Given the description of an element on the screen output the (x, y) to click on. 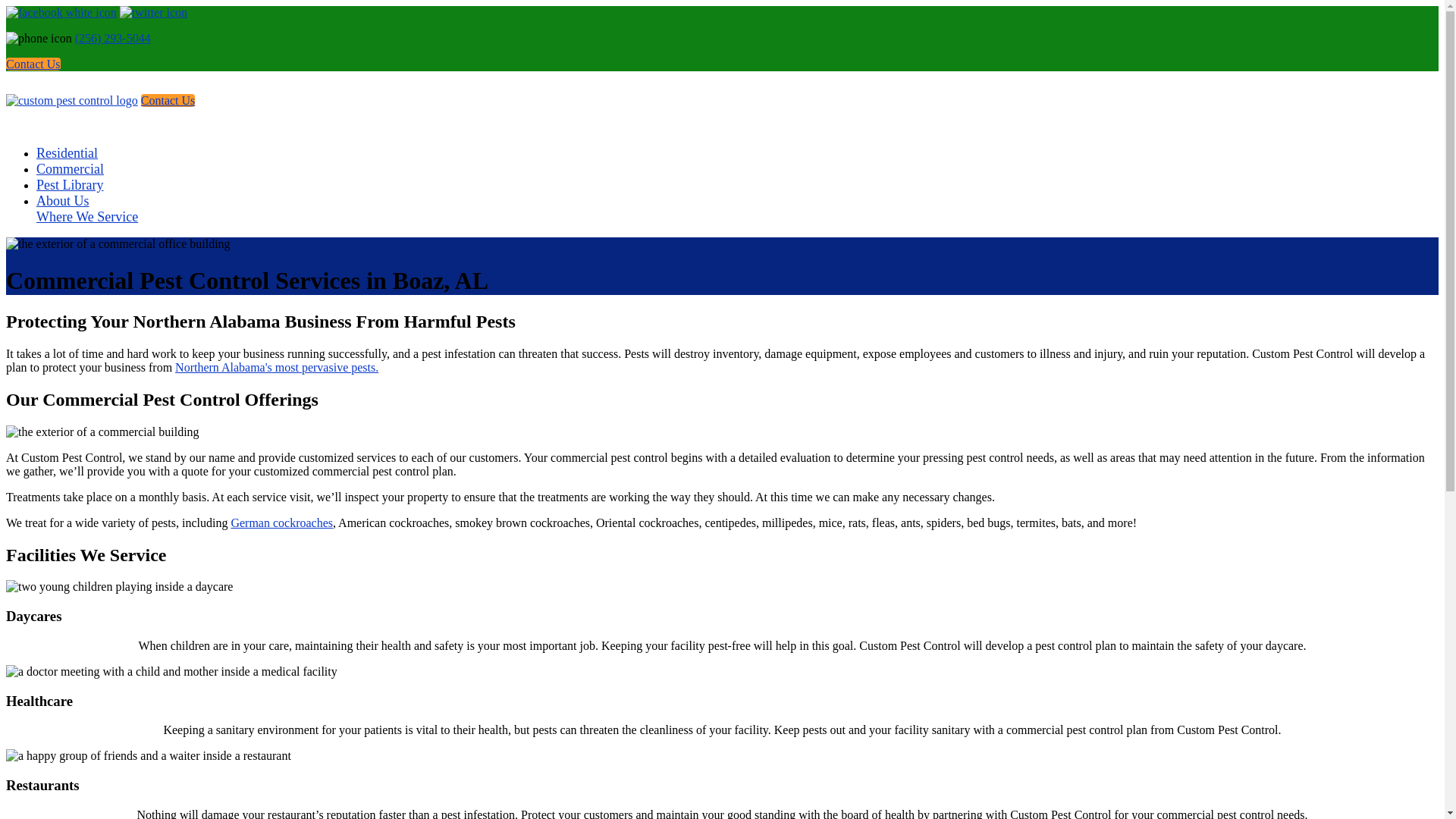
Contact Us (33, 63)
Commercial (69, 168)
Contact Us (168, 100)
About Us (62, 200)
Call Now! (38, 38)
Pest Library (69, 184)
German cockroaches (281, 522)
Where We Service (87, 216)
Residential (66, 152)
Northern Alabama's most pervasive pests. (276, 367)
